Given the description of an element on the screen output the (x, y) to click on. 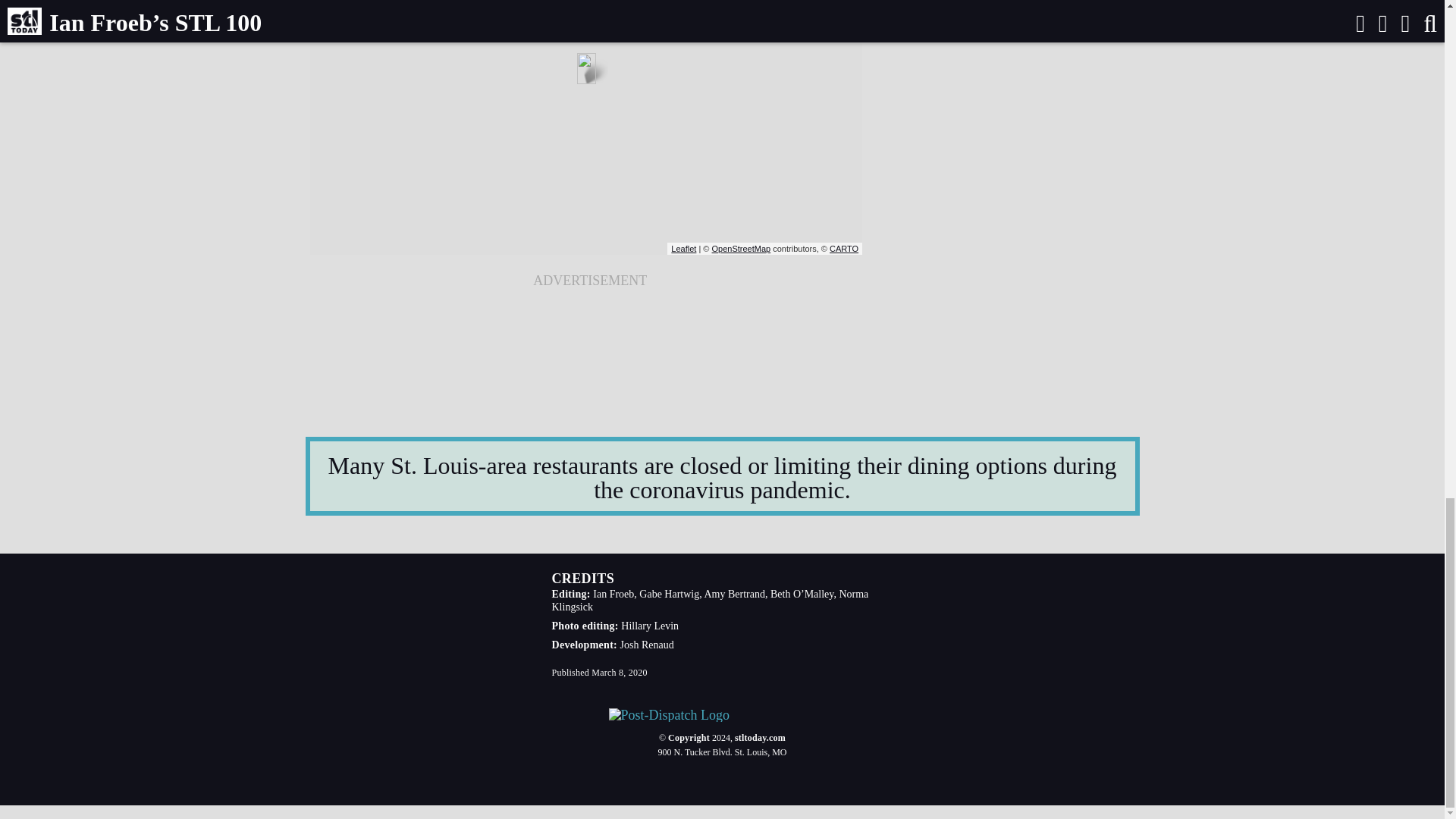
Hillary Levin (649, 625)
A JS library for interactive maps (683, 248)
3rd party ad content (590, 333)
CARTO (844, 248)
Gabe Hartwig (668, 593)
Amy Bertrand (733, 593)
Josh Renaud (647, 644)
Leaflet (683, 248)
Norma Klingsick (710, 600)
